Given the description of an element on the screen output the (x, y) to click on. 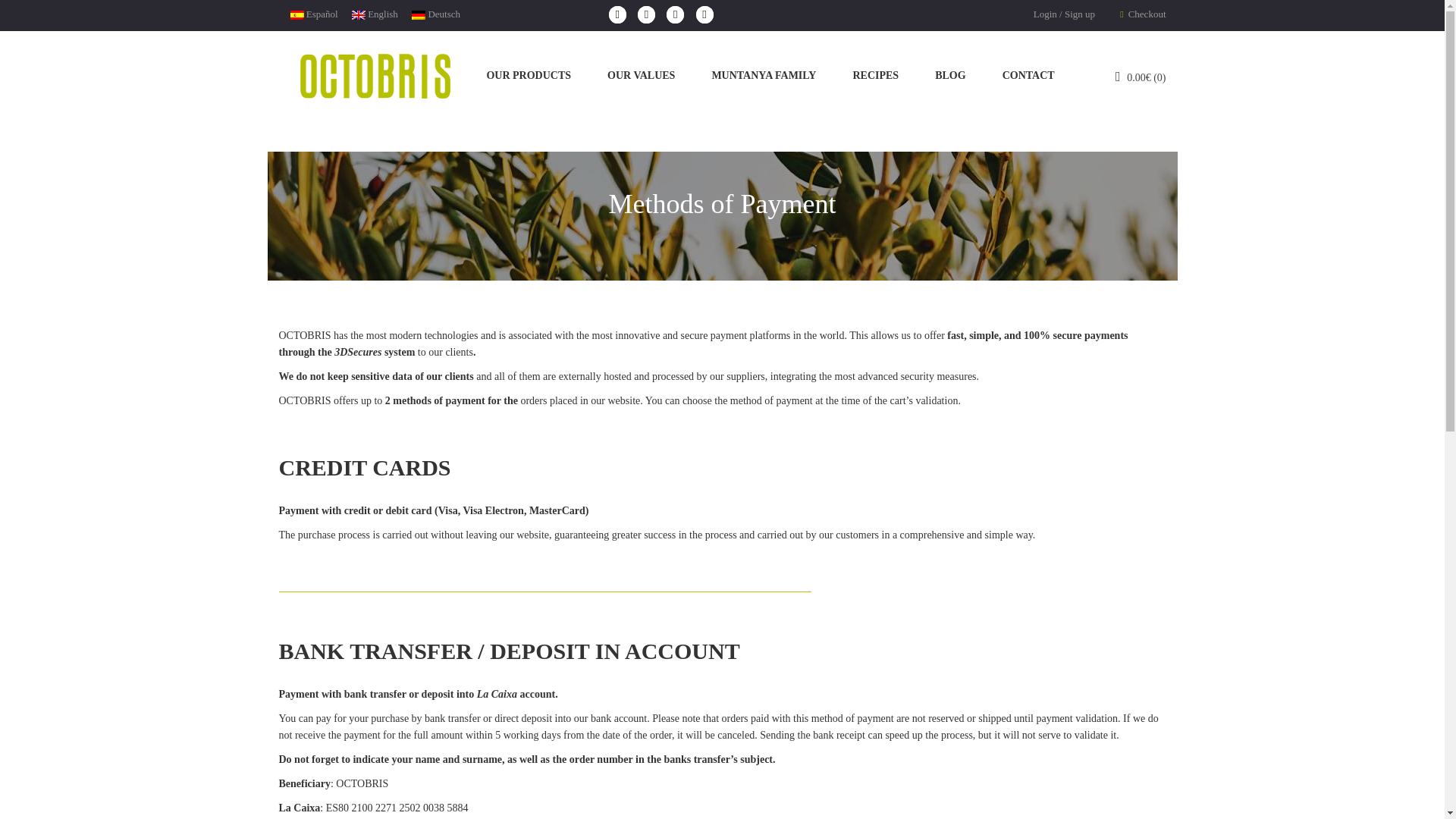
Login (1045, 13)
OUR PRODUCTS (528, 76)
RECIPES (875, 76)
Login (1045, 13)
octobris-newsletter (1335, 661)
Create New Account (1079, 13)
Deutsch (430, 13)
OUR VALUES (640, 76)
Checkout (1142, 13)
English (368, 13)
MUNTANYA FAMILY (763, 76)
Sign up (1079, 13)
Octobris Aceite de Oliva Virgen Extra (374, 75)
